Given the description of an element on the screen output the (x, y) to click on. 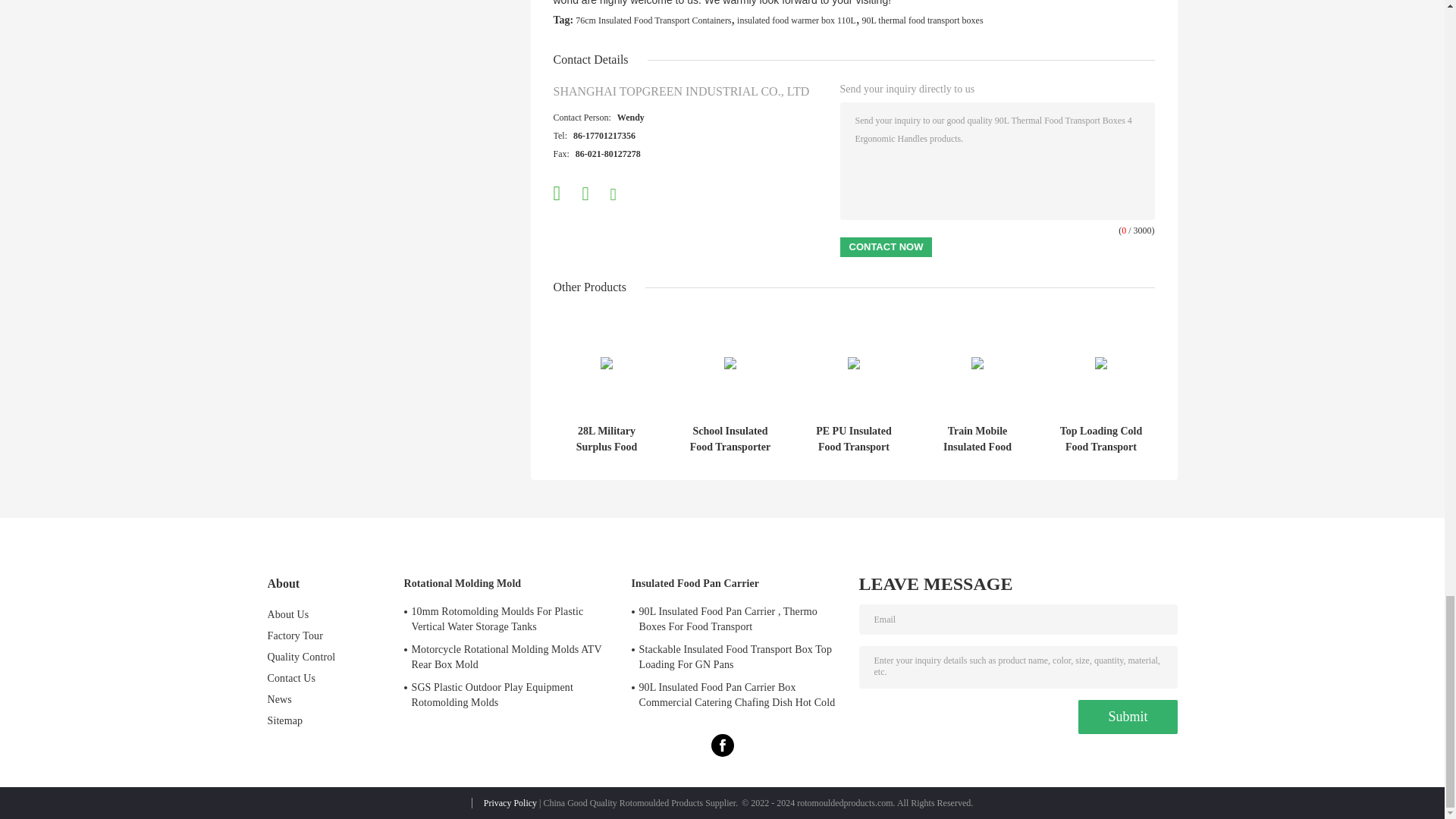
Submit (1127, 716)
Contact Now (886, 247)
